Given the description of an element on the screen output the (x, y) to click on. 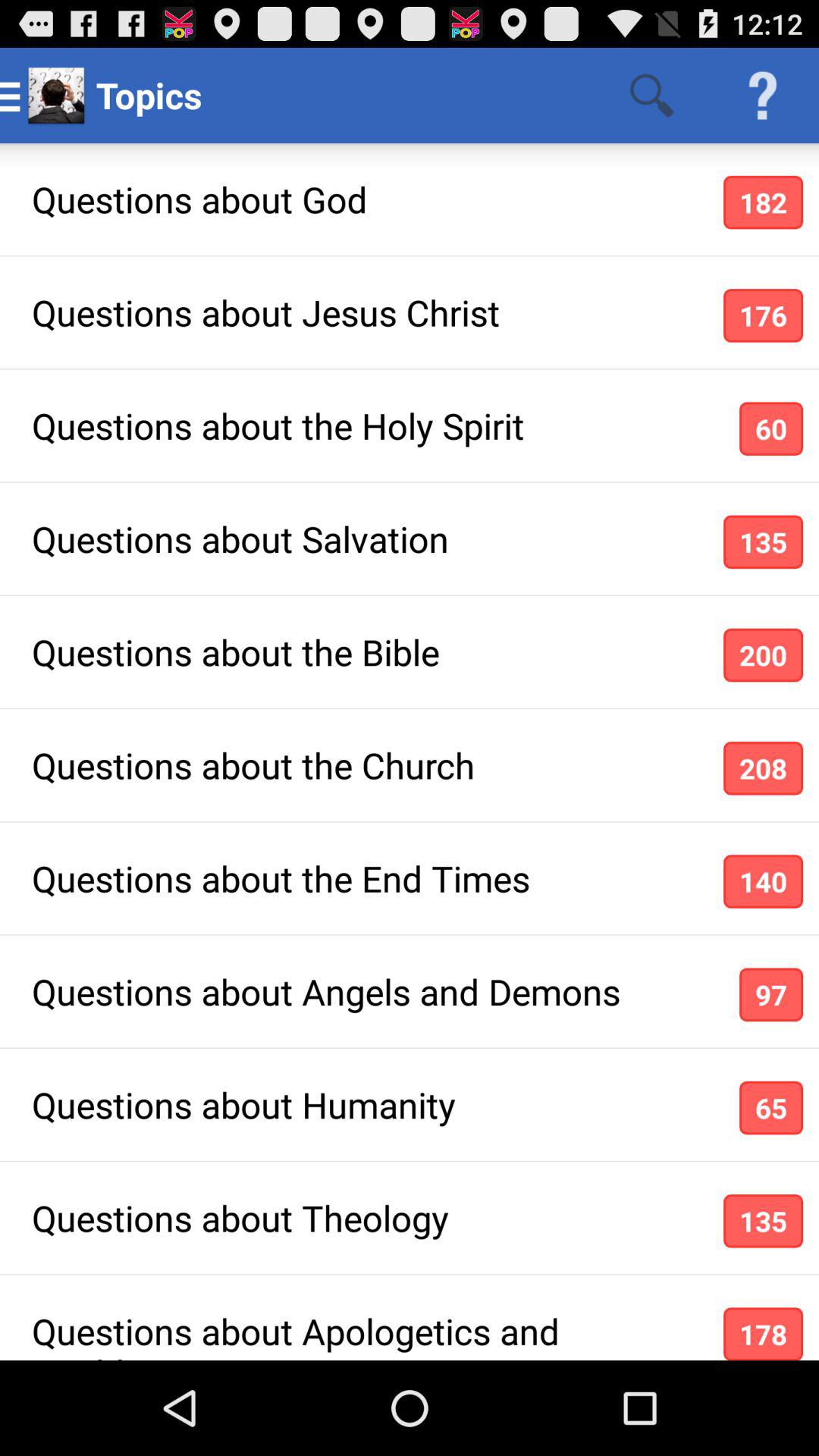
press icon below the questions about salvation app (763, 654)
